Given the description of an element on the screen output the (x, y) to click on. 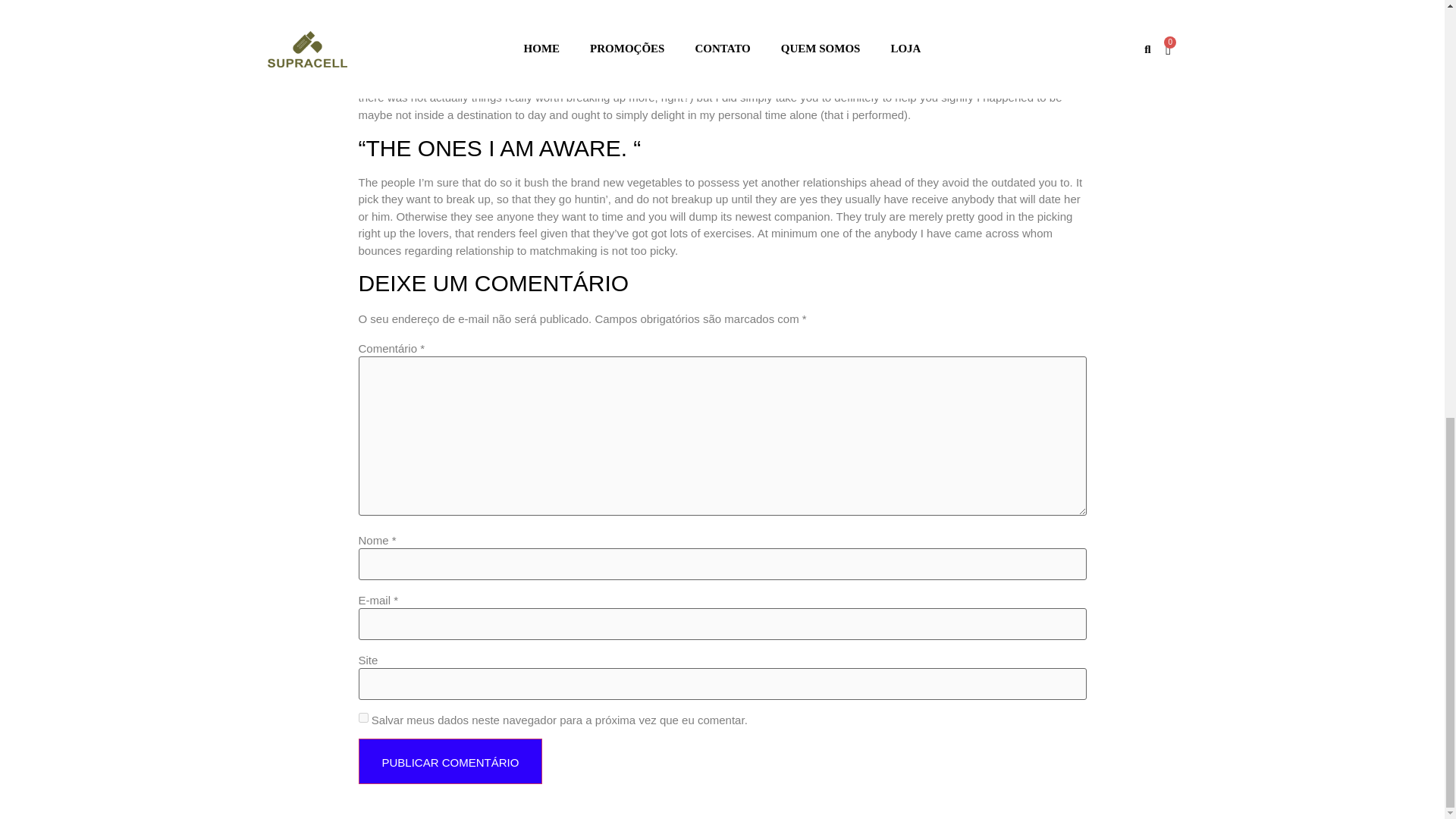
yes (363, 717)
sugar faddy for me (671, 80)
